Given the description of an element on the screen output the (x, y) to click on. 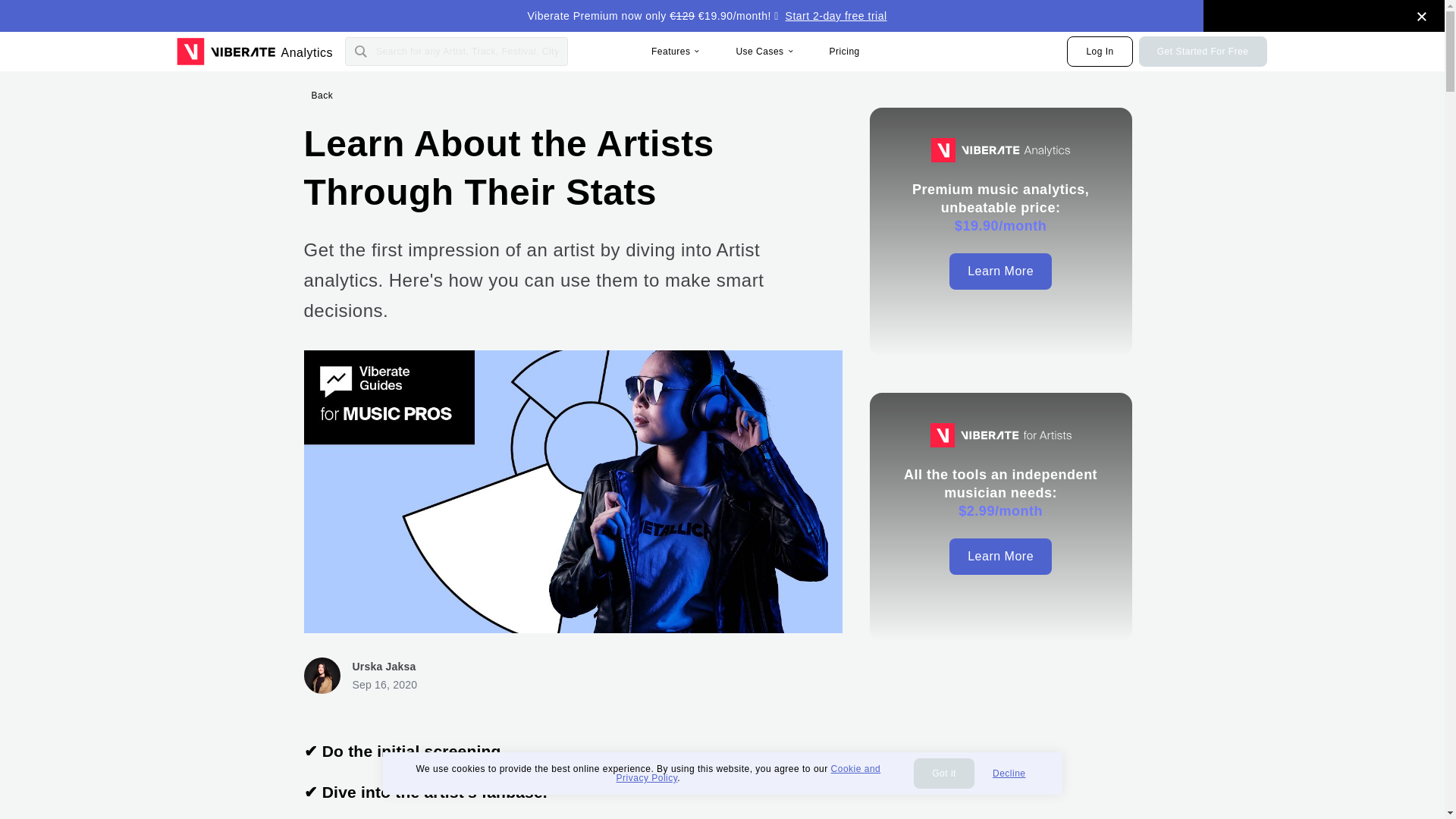
Cookie and Privacy Policy (747, 772)
Decline (1008, 773)
Use Cases (763, 51)
Viberate (225, 51)
Log In (1099, 51)
Got it (944, 773)
Privacy and Cookie Policy (747, 772)
Features (674, 32)
